Given the description of an element on the screen output the (x, y) to click on. 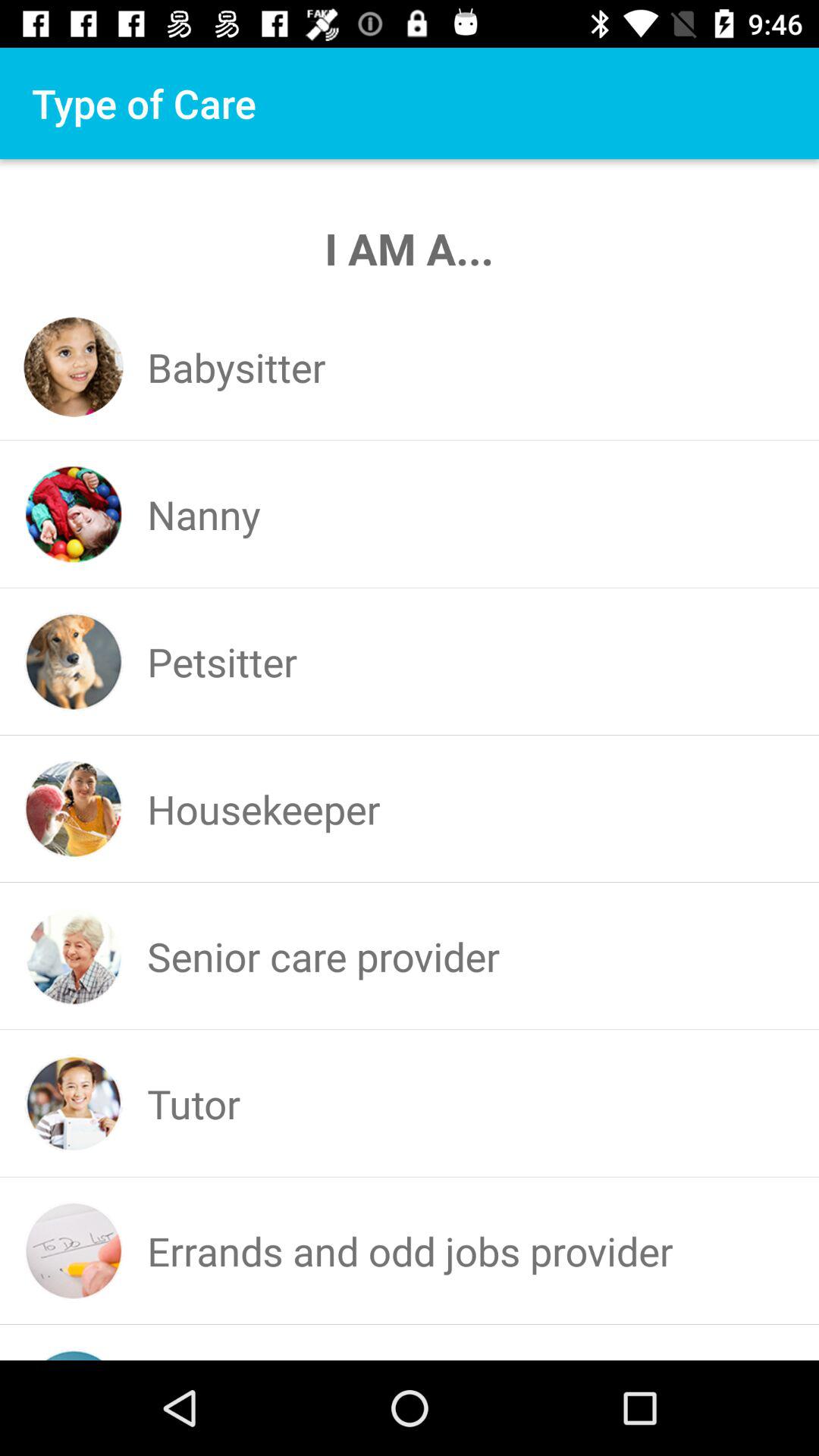
turn off the senior care provider item (323, 955)
